Given the description of an element on the screen output the (x, y) to click on. 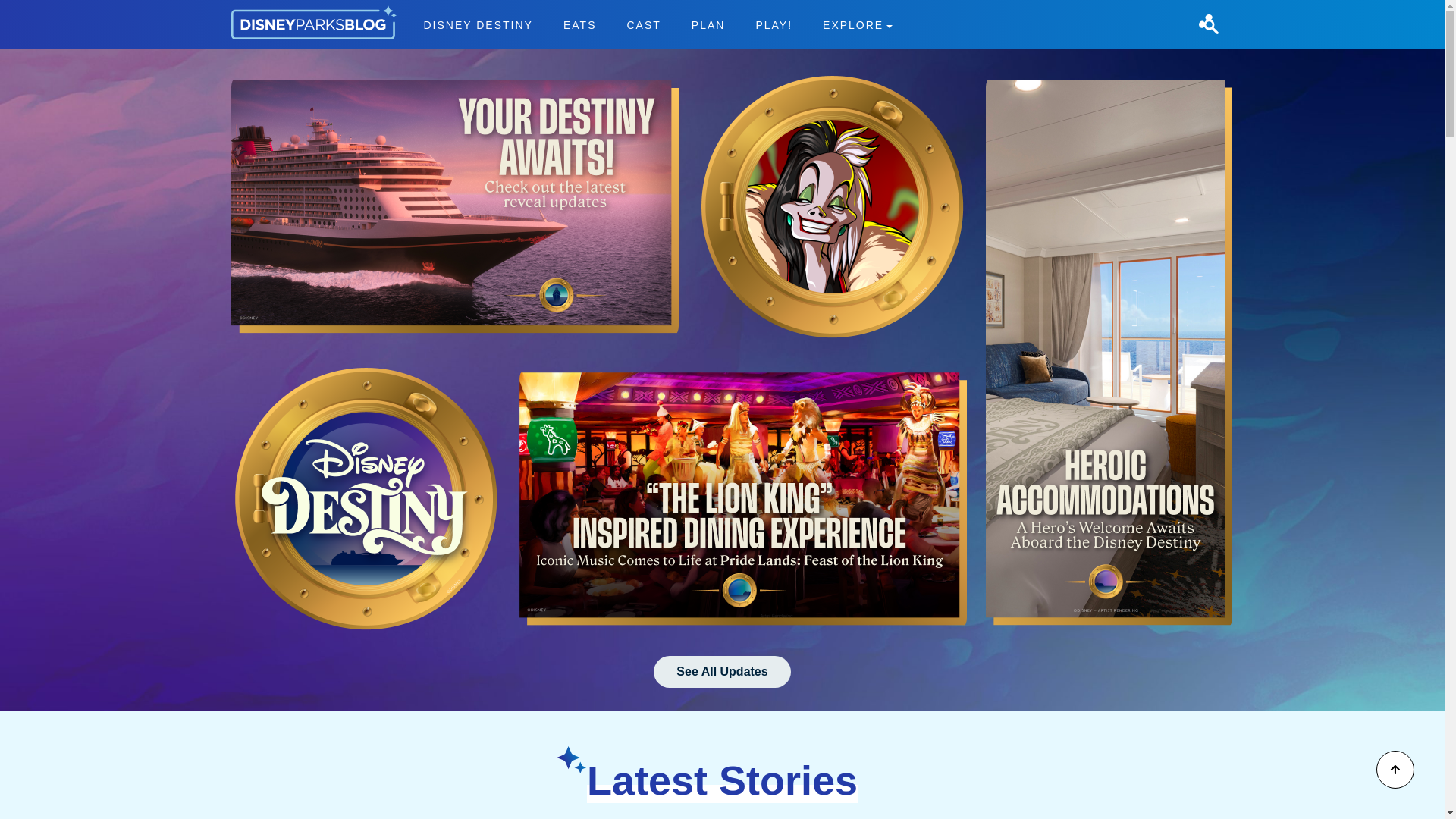
PLAN (657, 23)
CAST (708, 23)
Skip to content (643, 23)
EXPLORE (40, 8)
DISNEY DESTINY (857, 23)
PLAY! (478, 23)
See All Updates (773, 23)
EATS (721, 671)
